Given the description of an element on the screen output the (x, y) to click on. 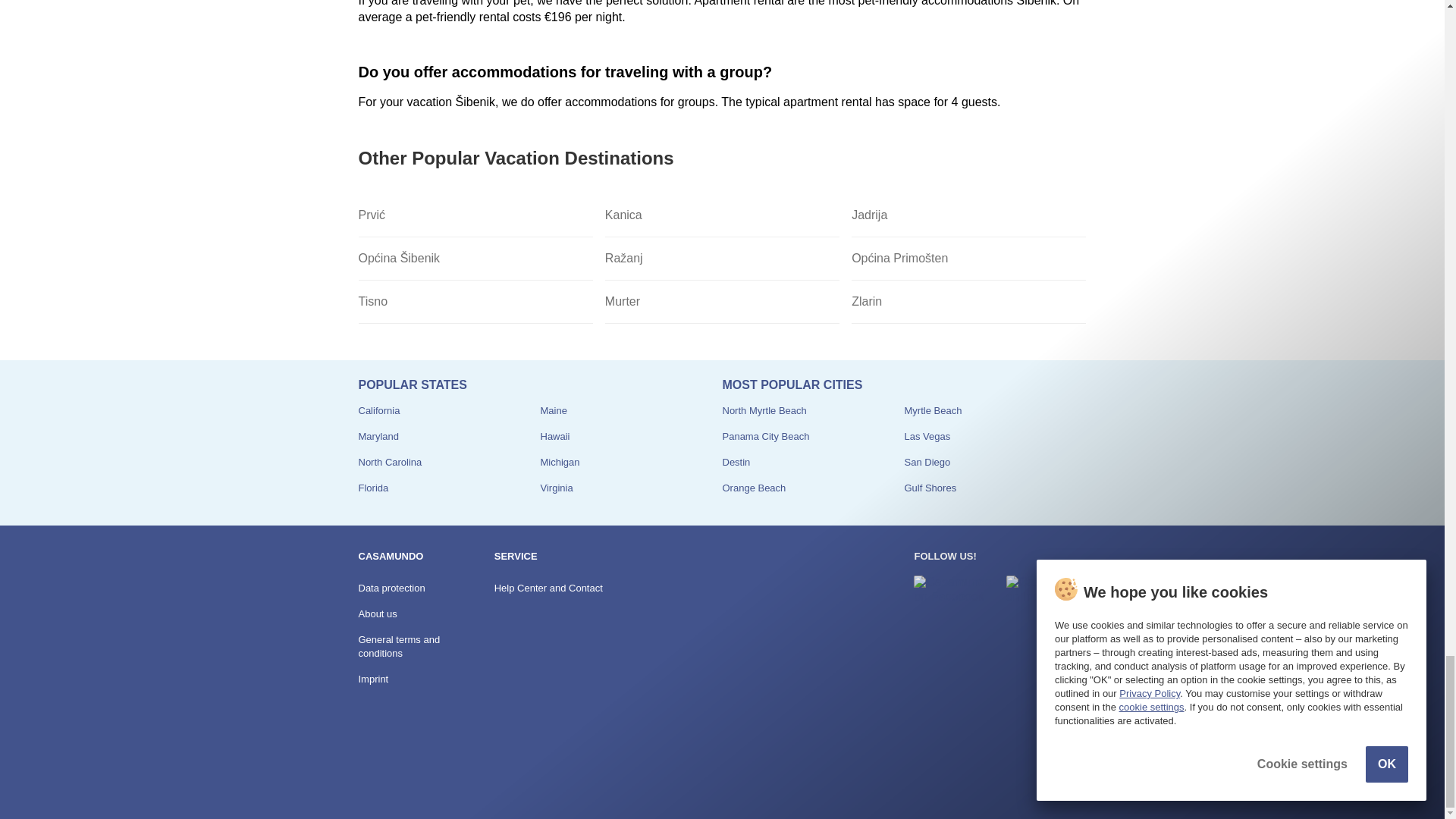
Kanica (722, 215)
Jadrija (968, 215)
